Given the description of an element on the screen output the (x, y) to click on. 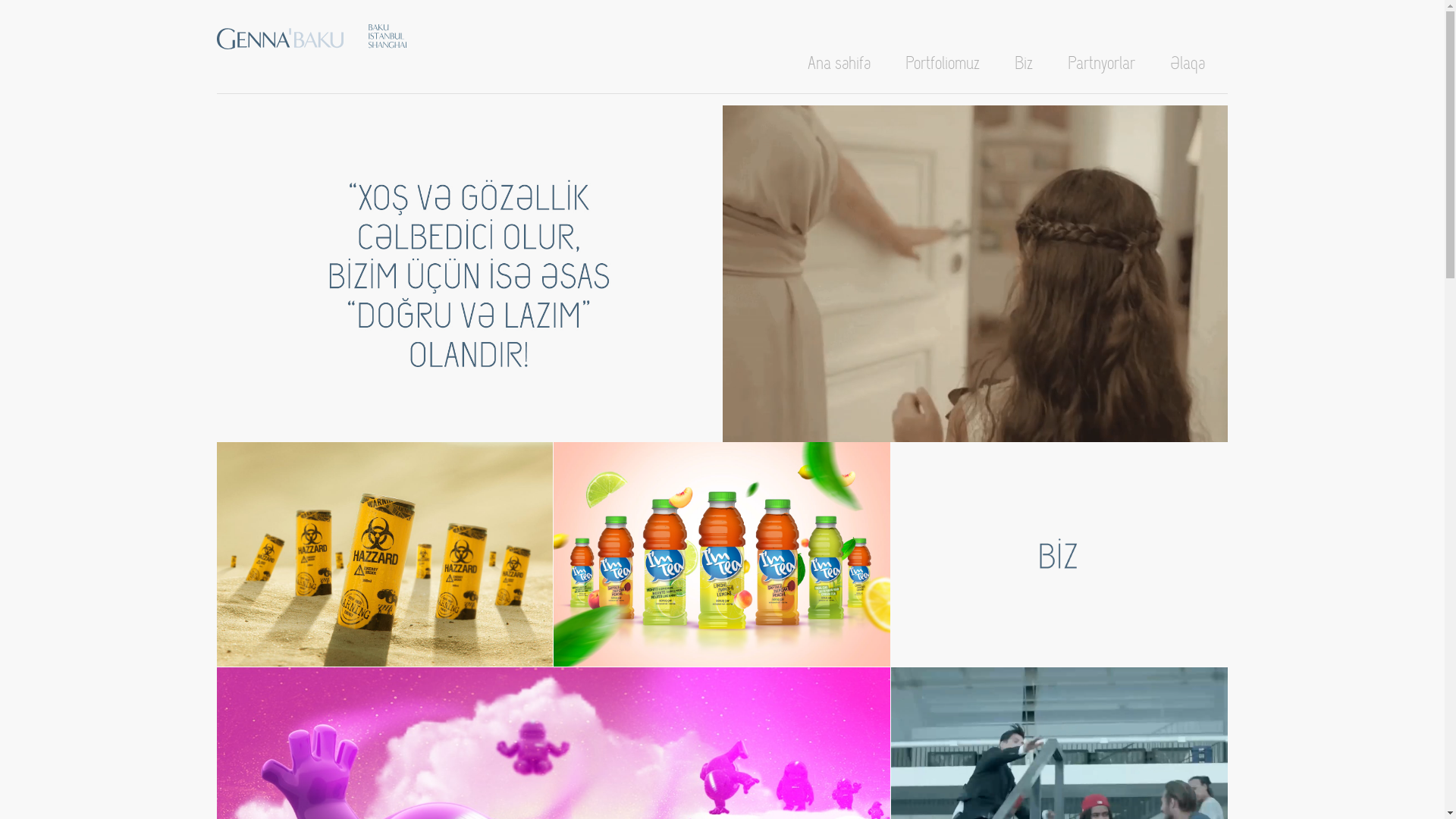
Biz Element type: text (1023, 63)
Partnyorlar Element type: text (1101, 63)
Portfoliomuz Element type: text (942, 63)
Camera Element type: hover (722, 554)
